Given the description of an element on the screen output the (x, y) to click on. 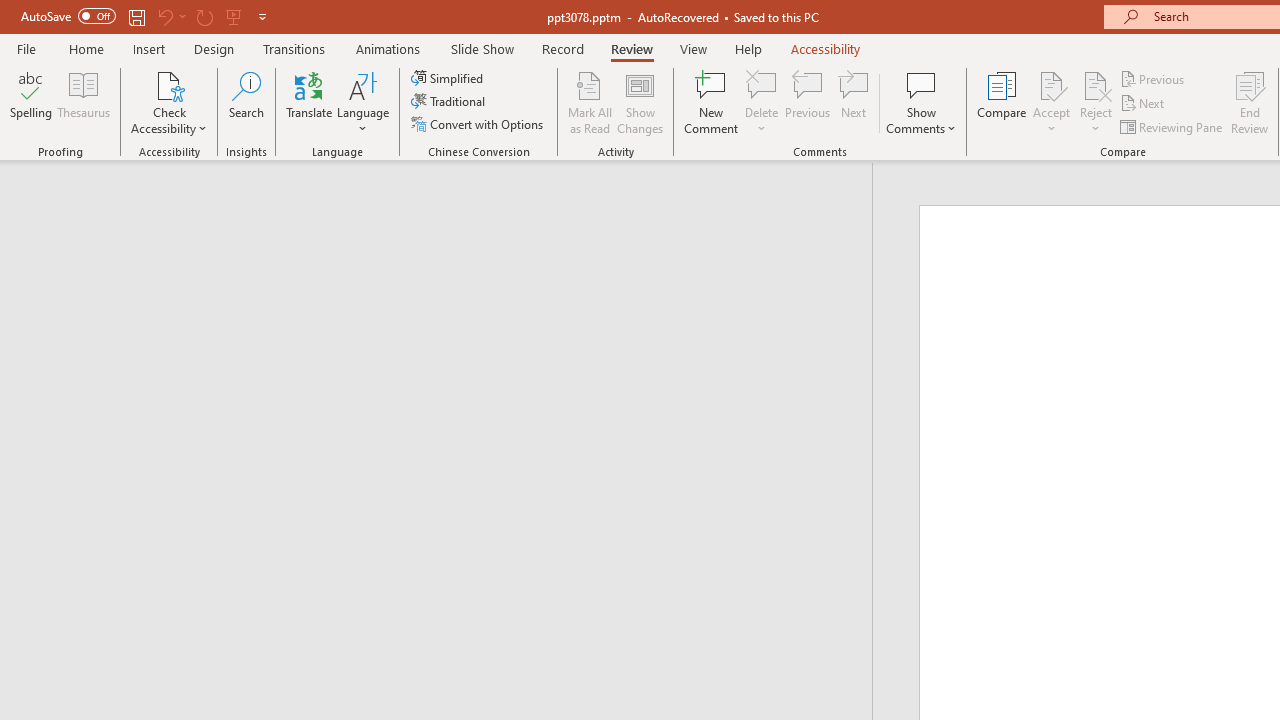
Next (1144, 103)
Translate (309, 102)
Convert with Options... (479, 124)
Accept Change (1051, 84)
Spelling... (31, 102)
Simplified (449, 78)
New Comment (711, 102)
